Given the description of an element on the screen output the (x, y) to click on. 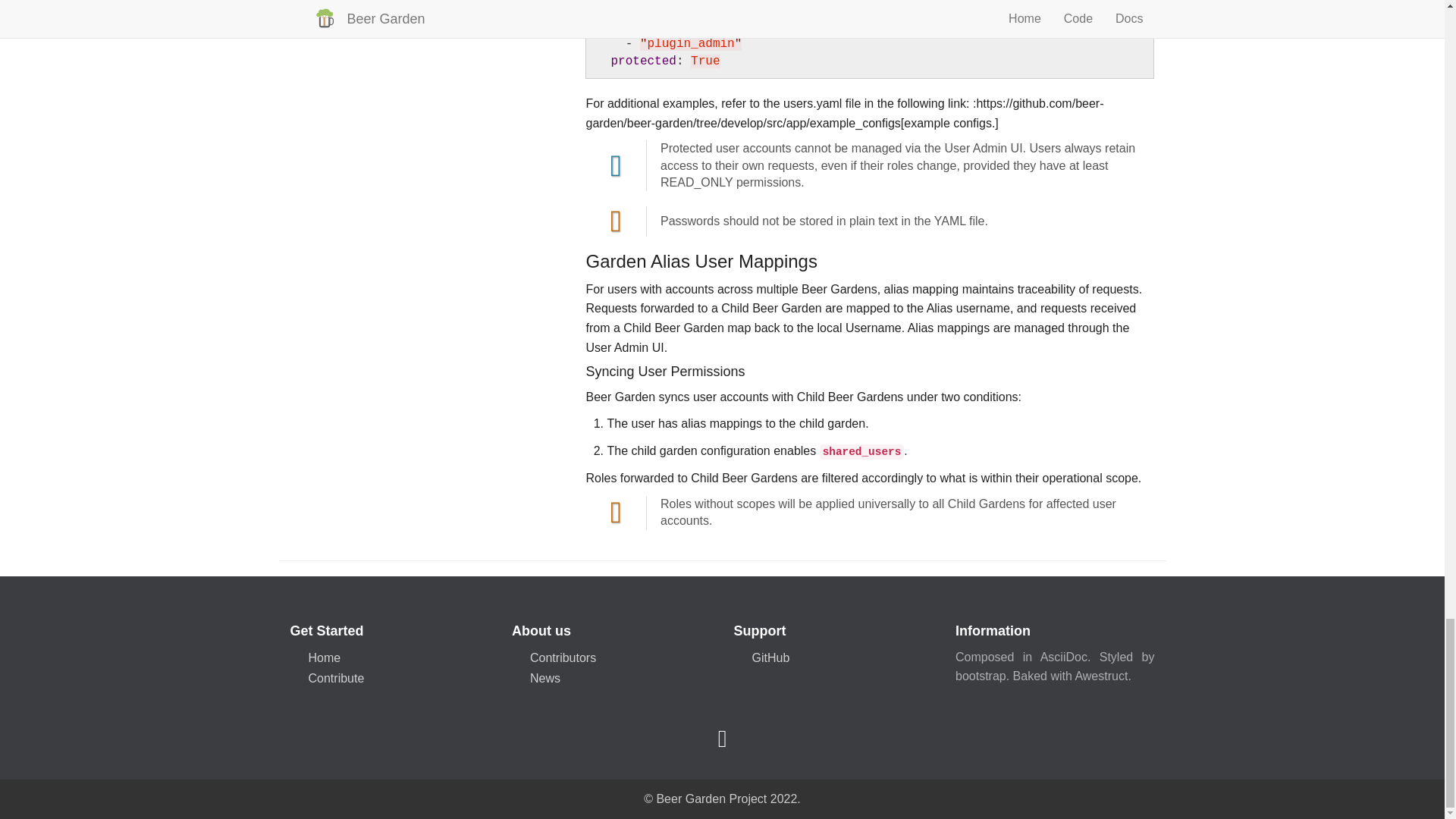
Contribute (335, 677)
Contributors (562, 657)
Home (323, 657)
